Given the description of an element on the screen output the (x, y) to click on. 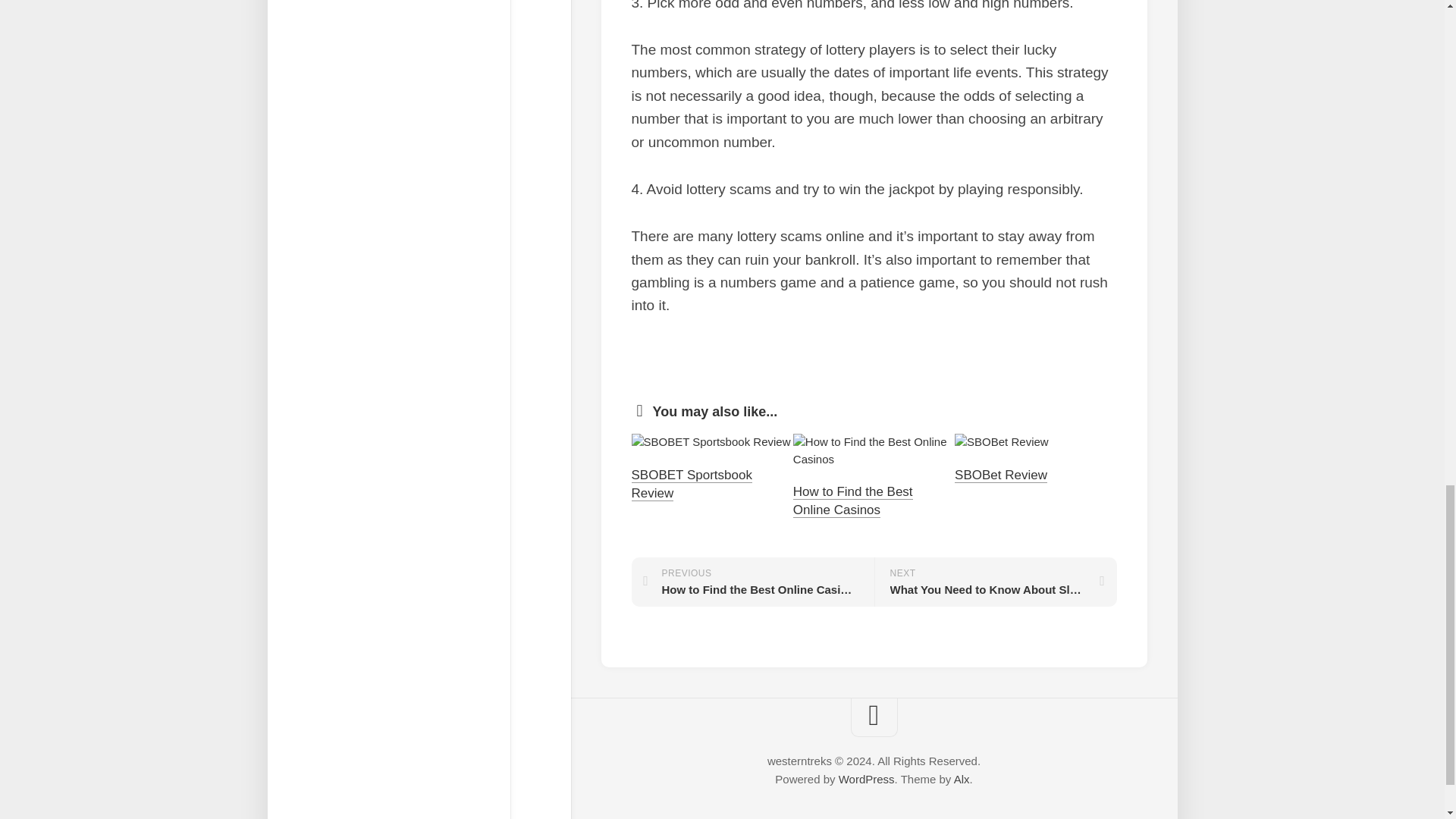
SBOBET Sportsbook Review (690, 483)
SBOBet Review (1000, 474)
How to Find the Best Online Casinos (751, 581)
WordPress (852, 500)
Alx (866, 779)
